Given the description of an element on the screen output the (x, y) to click on. 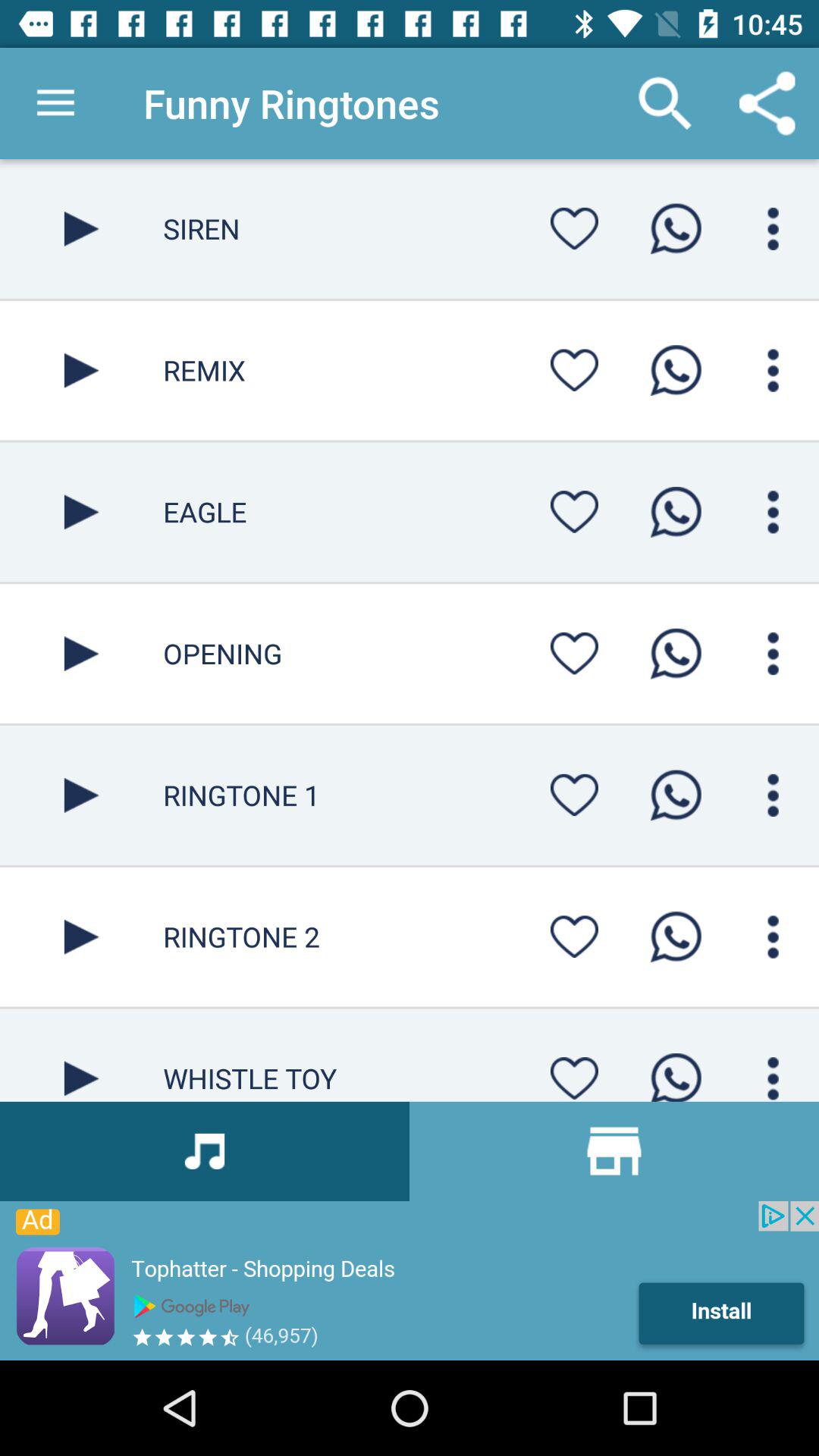
favorite button (574, 511)
